Given the description of an element on the screen output the (x, y) to click on. 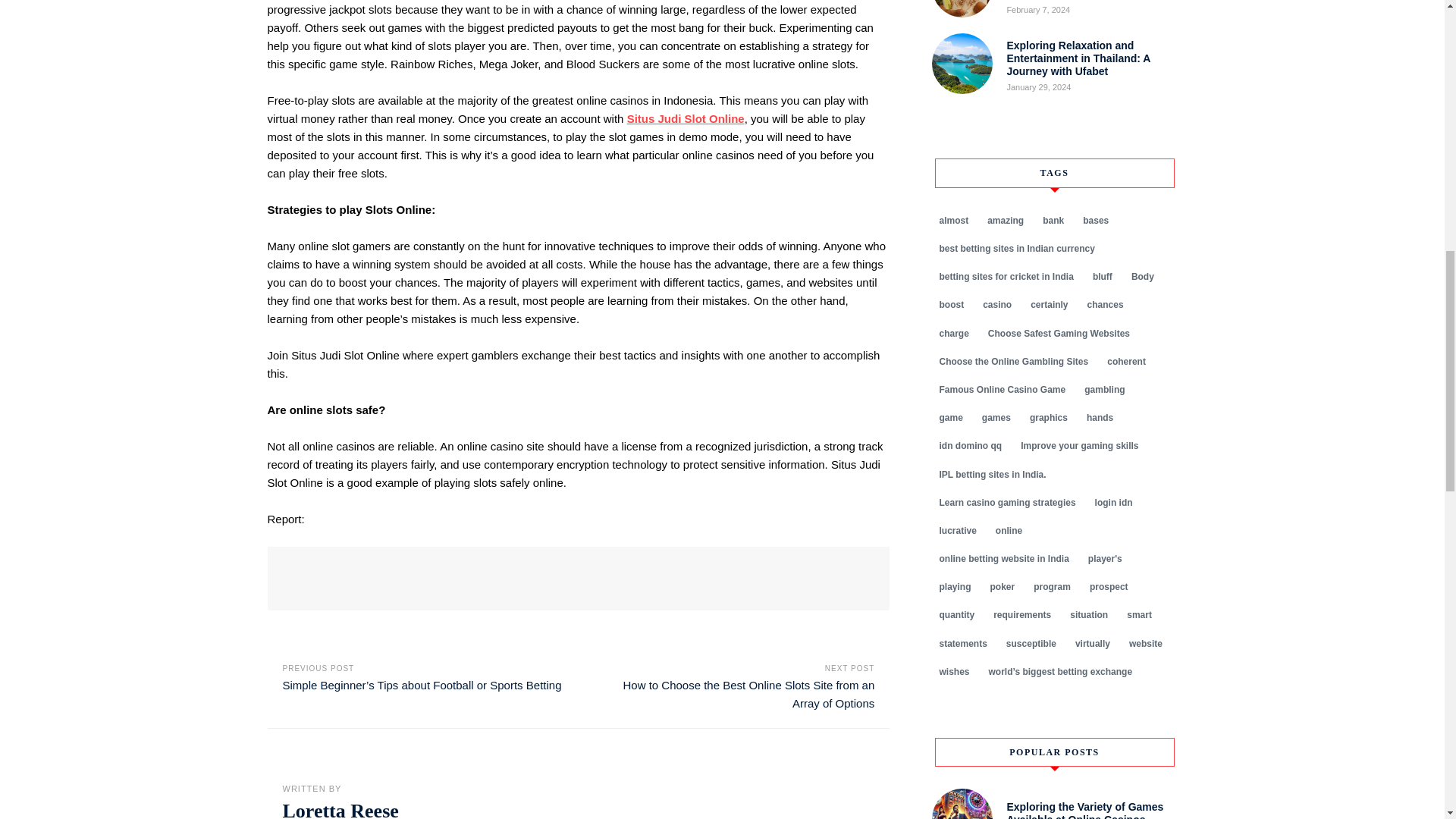
Loretta Reese (339, 809)
Situs Judi Slot Online (685, 118)
